Given the description of an element on the screen output the (x, y) to click on. 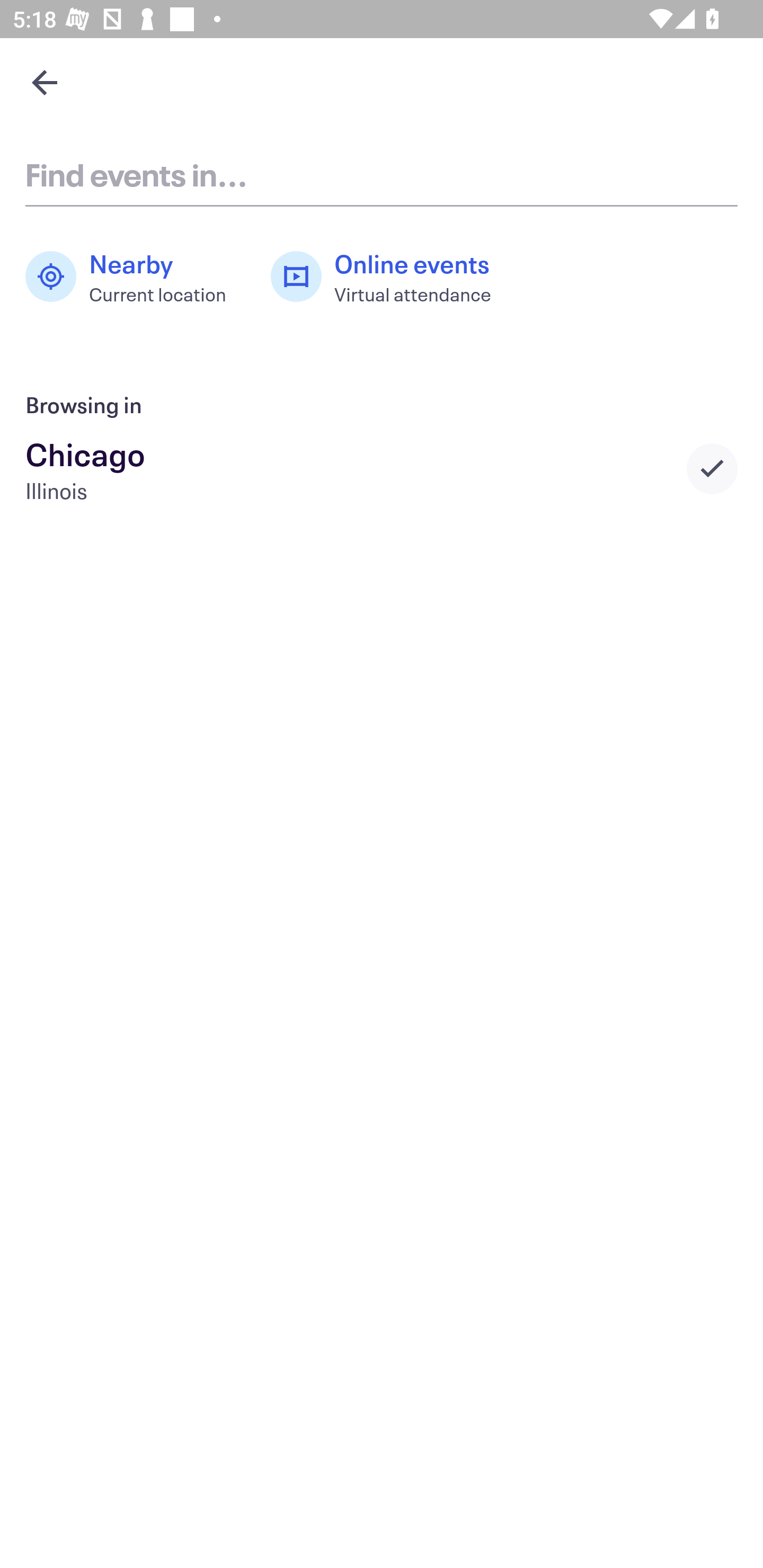
Navigate up (44, 82)
Find events in... (381, 173)
Nearby Current location (135, 276)
Online events Virtual attendance (390, 276)
Chicago Illinois Selected city (381, 468)
